Given the description of an element on the screen output the (x, y) to click on. 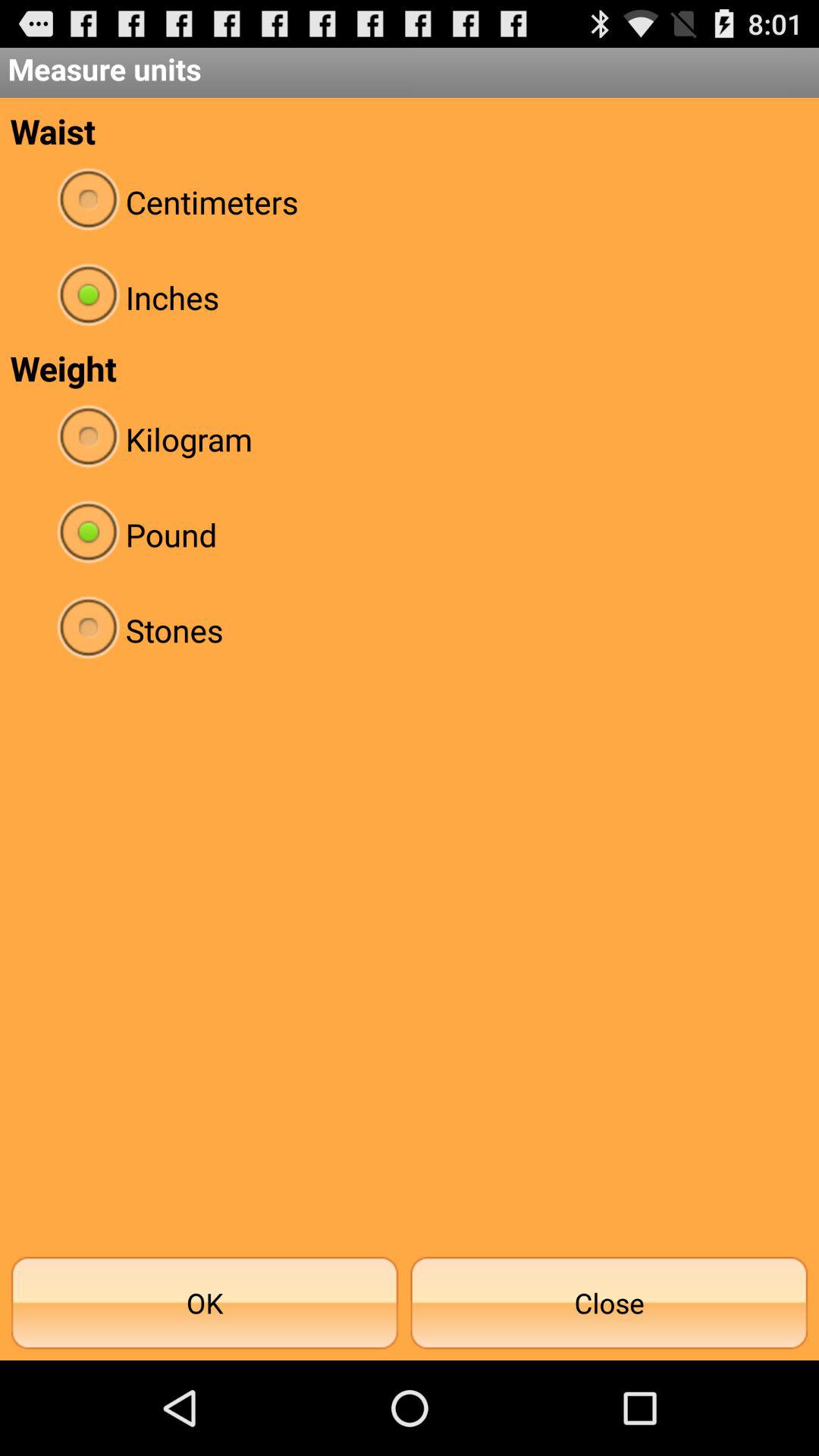
scroll to the kilogram radio button (409, 438)
